Given the description of an element on the screen output the (x, y) to click on. 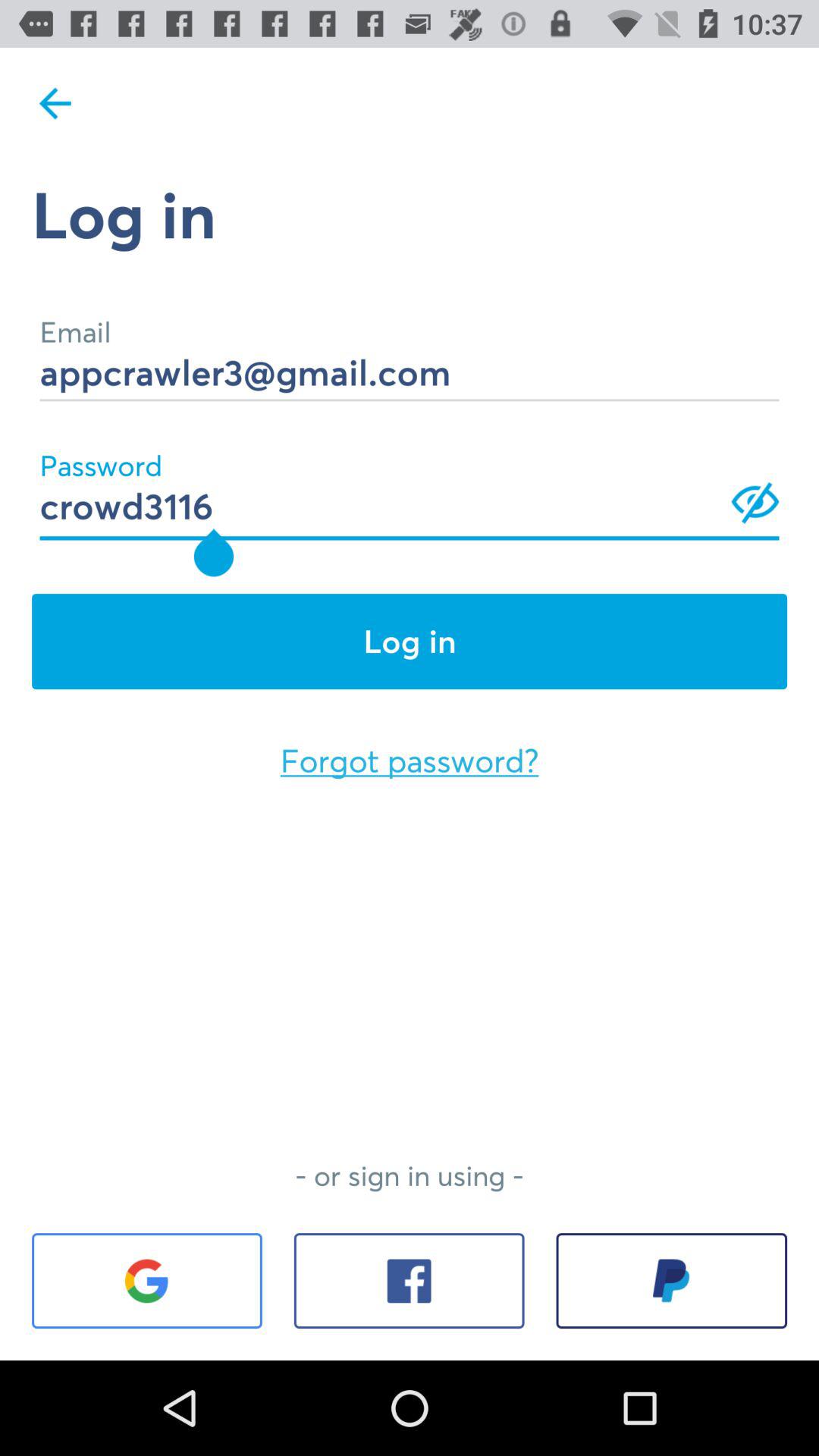
choose the icon above crowd3116 icon (409, 351)
